Given the description of an element on the screen output the (x, y) to click on. 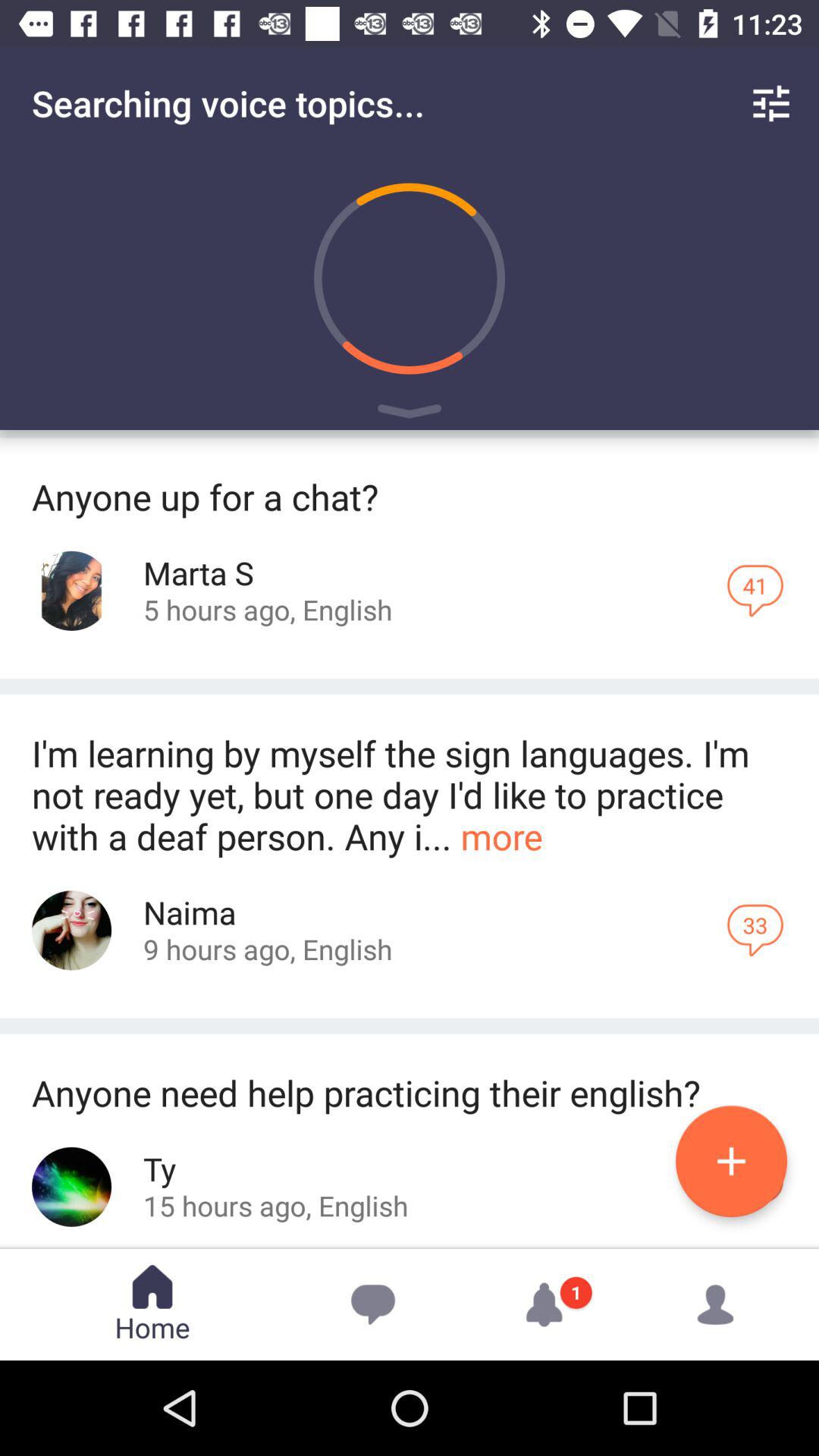
profile (71, 930)
